Given the description of an element on the screen output the (x, y) to click on. 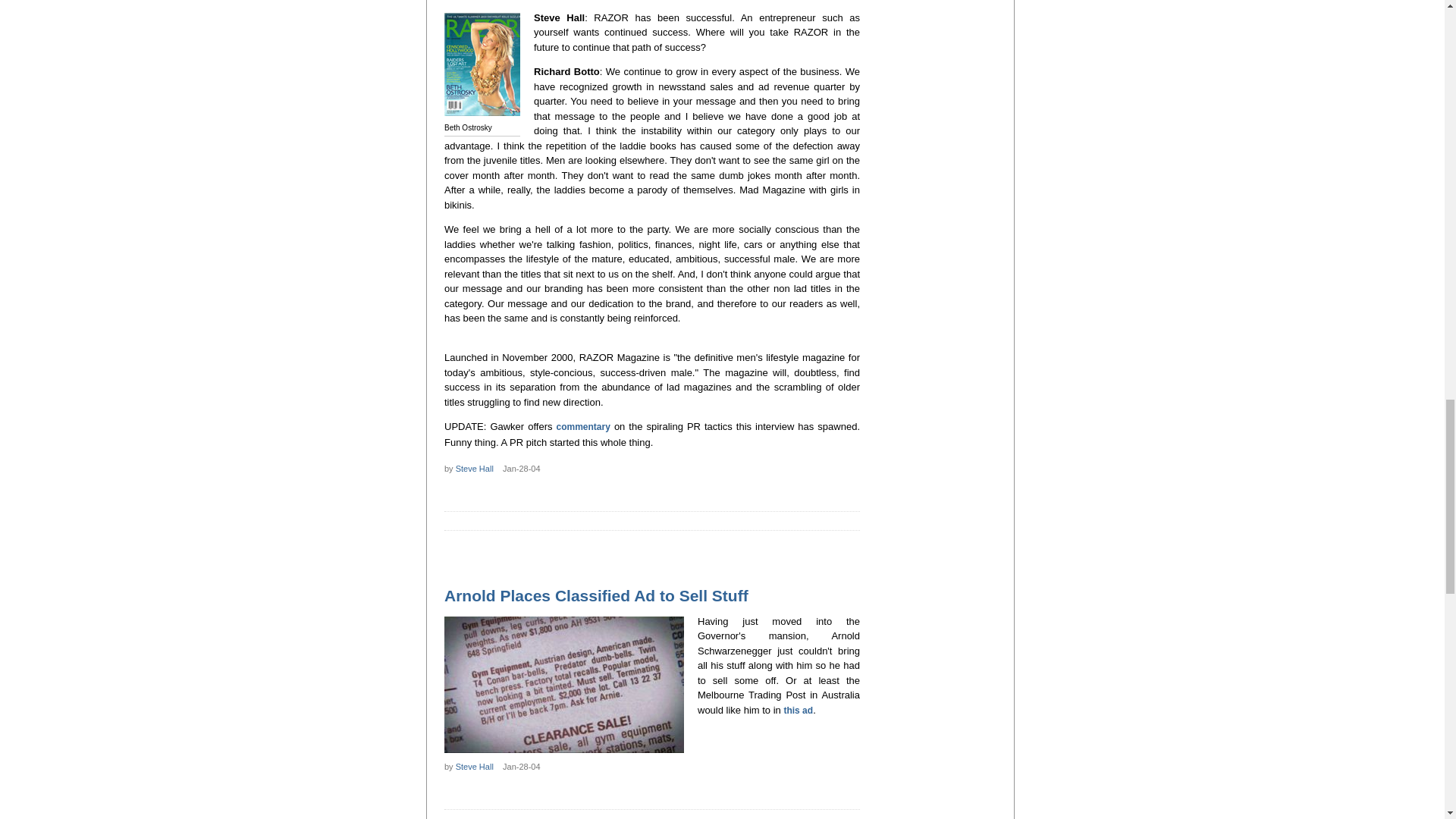
Steve Hall (474, 766)
Arnold Places Classified Ad to Sell Stuff (596, 595)
this ad (797, 710)
commentary (583, 426)
Steve Hall (474, 468)
